Given the description of an element on the screen output the (x, y) to click on. 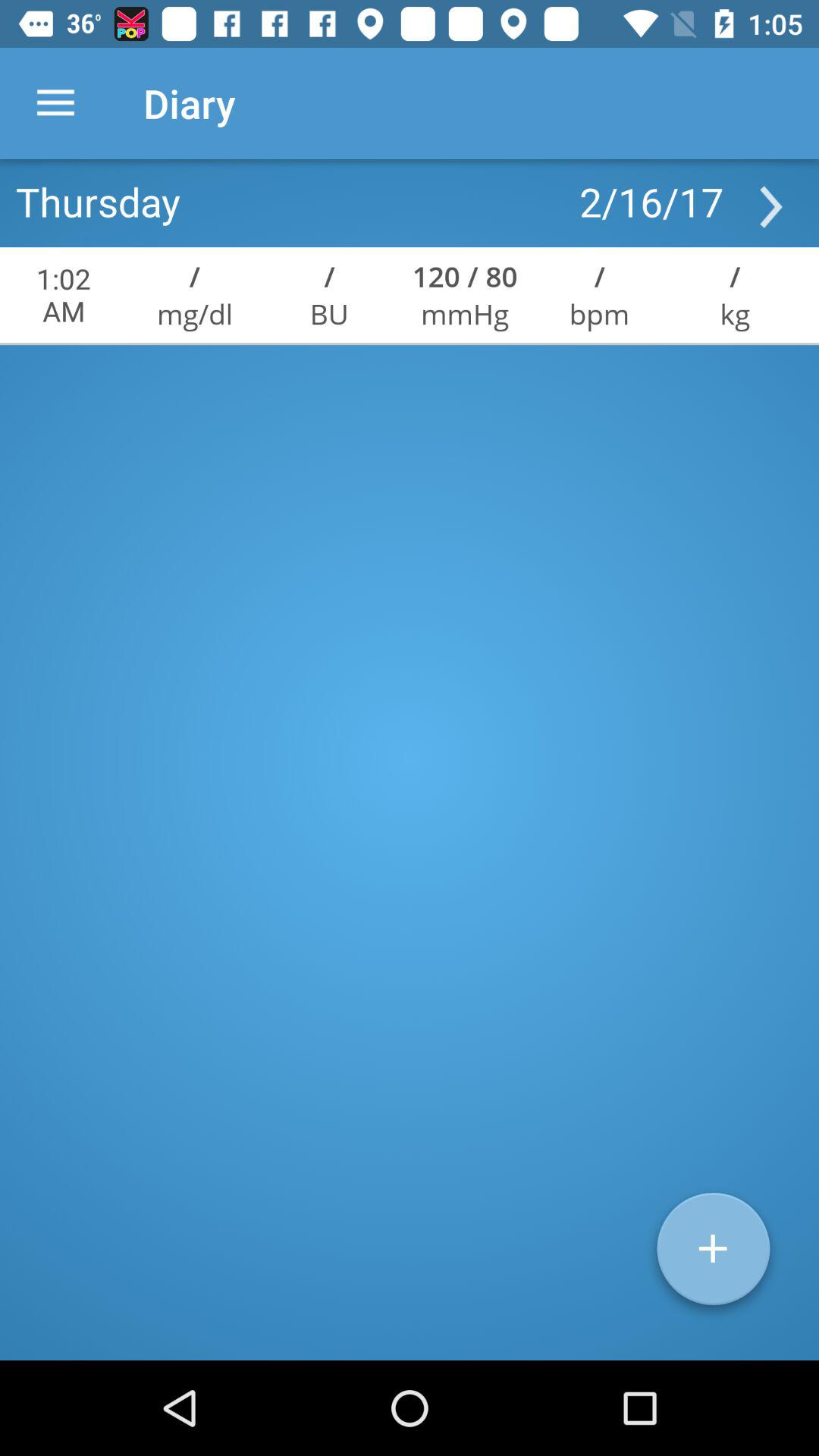
swipe until thursday item (97, 201)
